Given the description of an element on the screen output the (x, y) to click on. 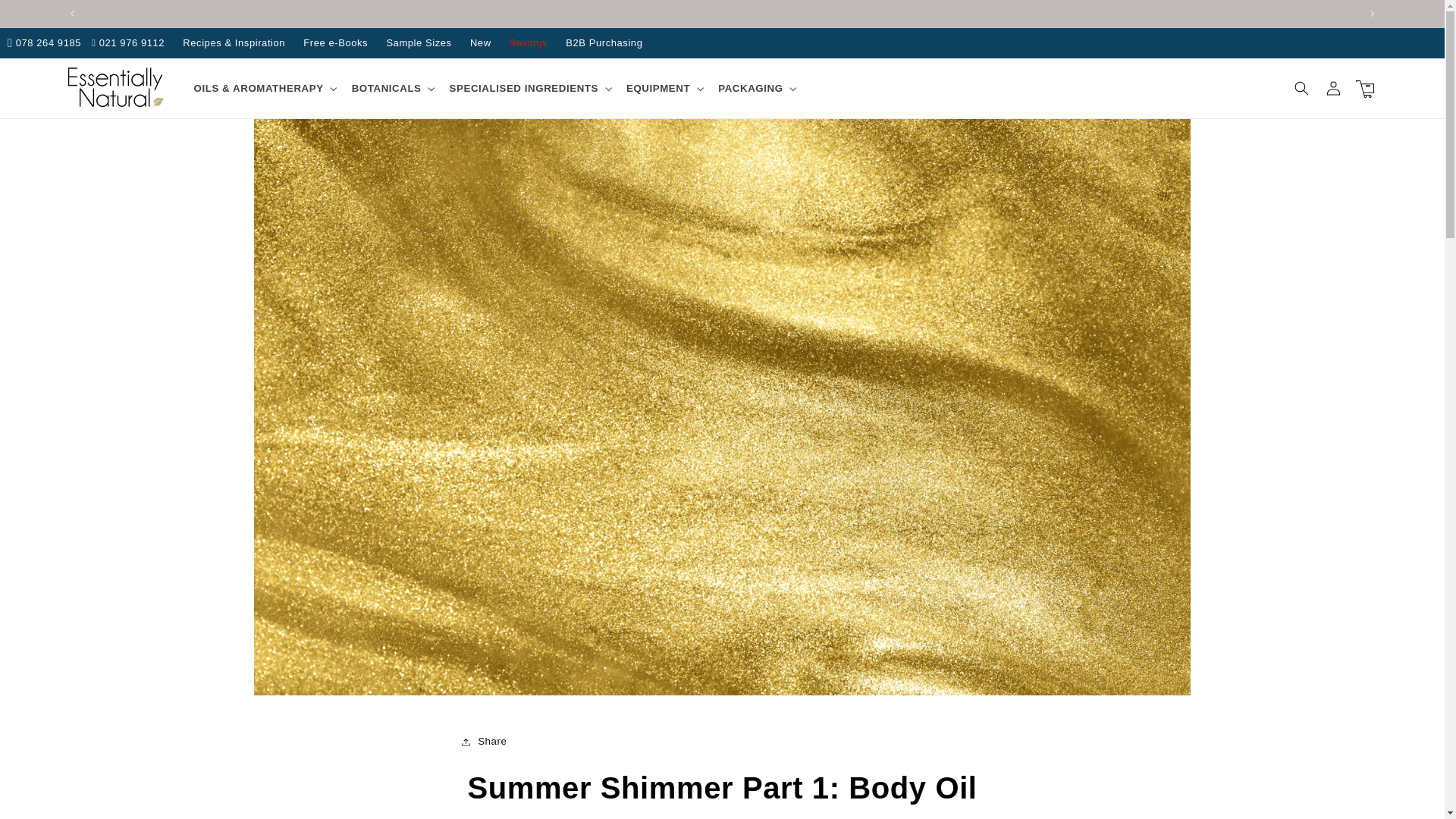
021 976 9112 (127, 42)
New (481, 42)
Free e-Books (335, 42)
B2B Purchasing (603, 42)
Sample Sizes (418, 42)
Savings (528, 42)
078 264 9185 (44, 42)
Sign in or create account (1333, 88)
Skip to content (43, 16)
